Given the description of an element on the screen output the (x, y) to click on. 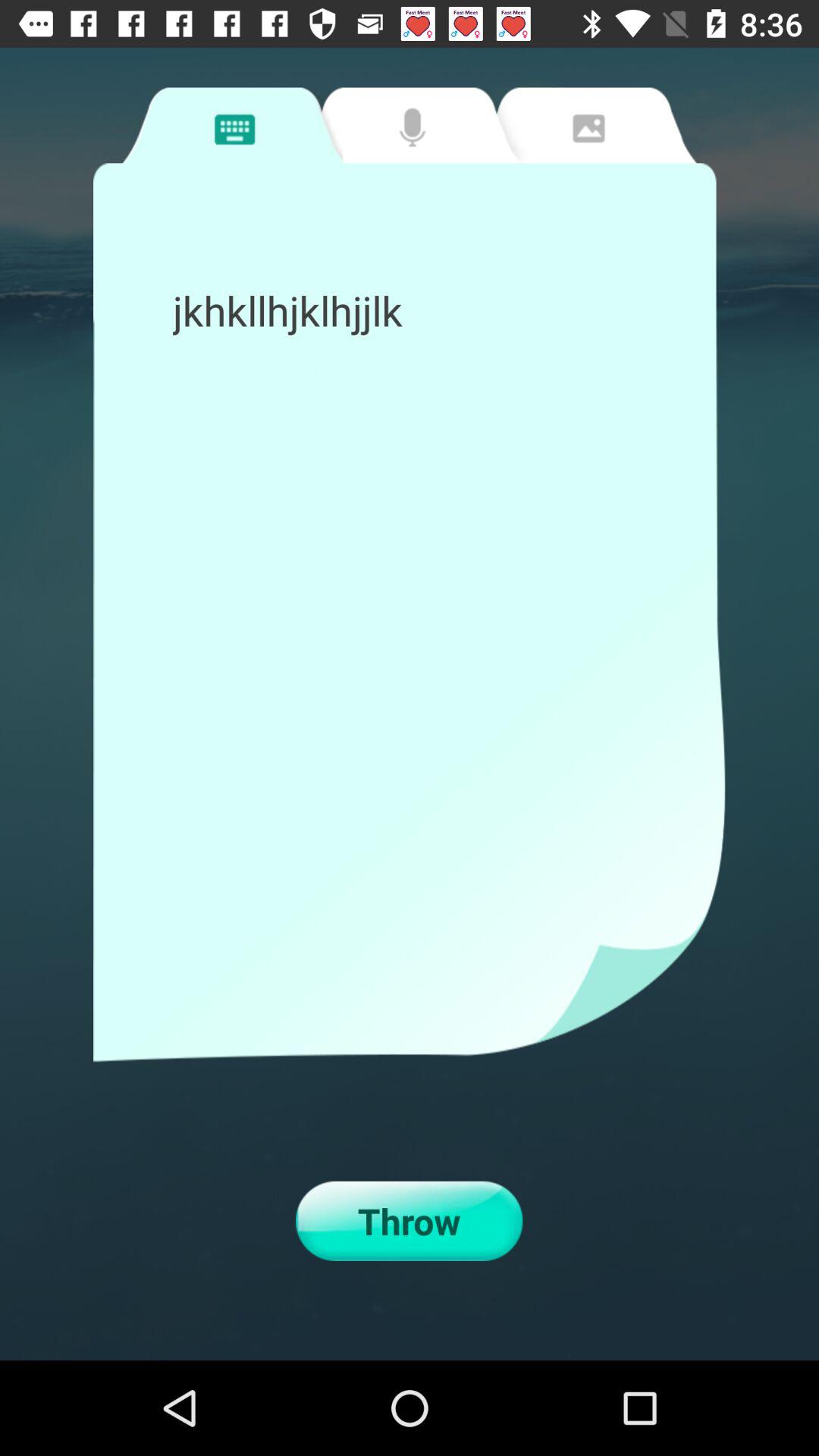
type a message (231, 125)
